Given the description of an element on the screen output the (x, y) to click on. 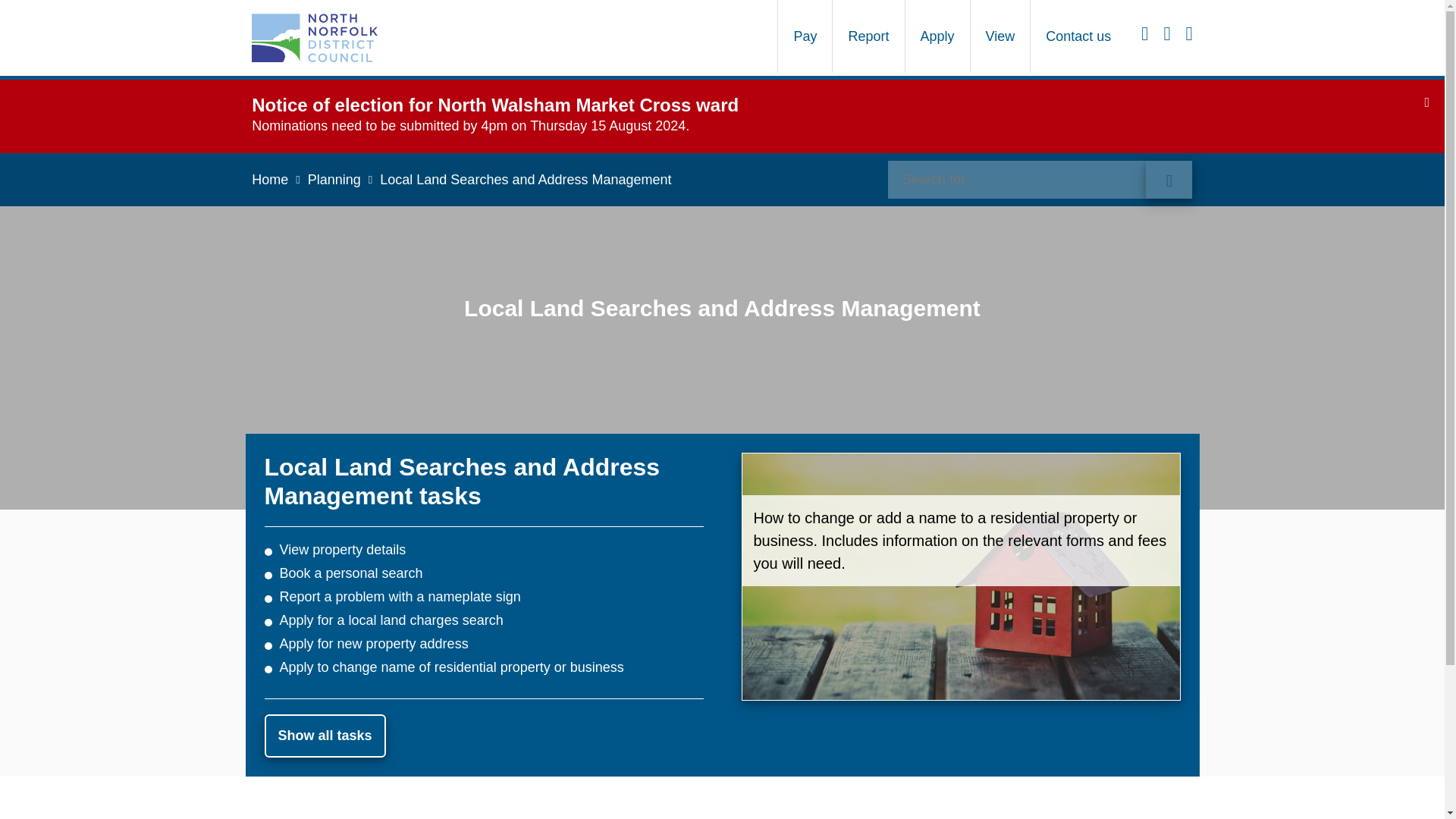
View (999, 36)
List of Pay Type Tasks (804, 36)
Apply to change name of residential property or business (451, 667)
Book a personal search (350, 572)
Contact us (1077, 36)
Apply for a local land charges search (390, 620)
Home (279, 178)
Show all tasks (324, 735)
View property details (342, 549)
